Given the description of an element on the screen output the (x, y) to click on. 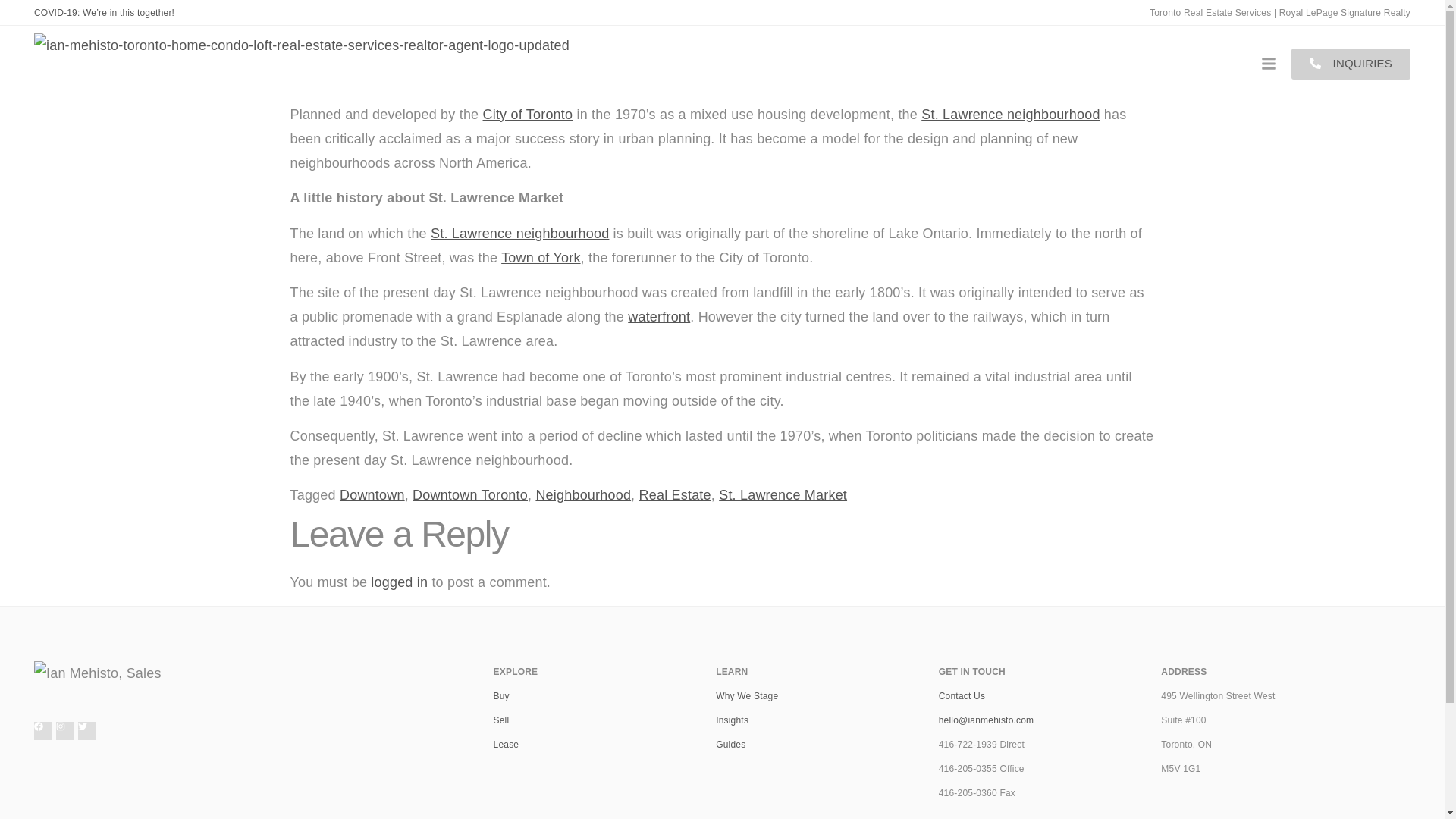
Insights (732, 719)
Email Us (962, 696)
Neighbourhood (582, 494)
St. Lawrence Market (1010, 114)
City of Toronto (528, 114)
St. Lawrence Market (519, 233)
Guides (730, 744)
Sell Real Estate (501, 719)
St. Lawrence neighbourhood (1010, 114)
City of Toronto (528, 114)
